Given the description of an element on the screen output the (x, y) to click on. 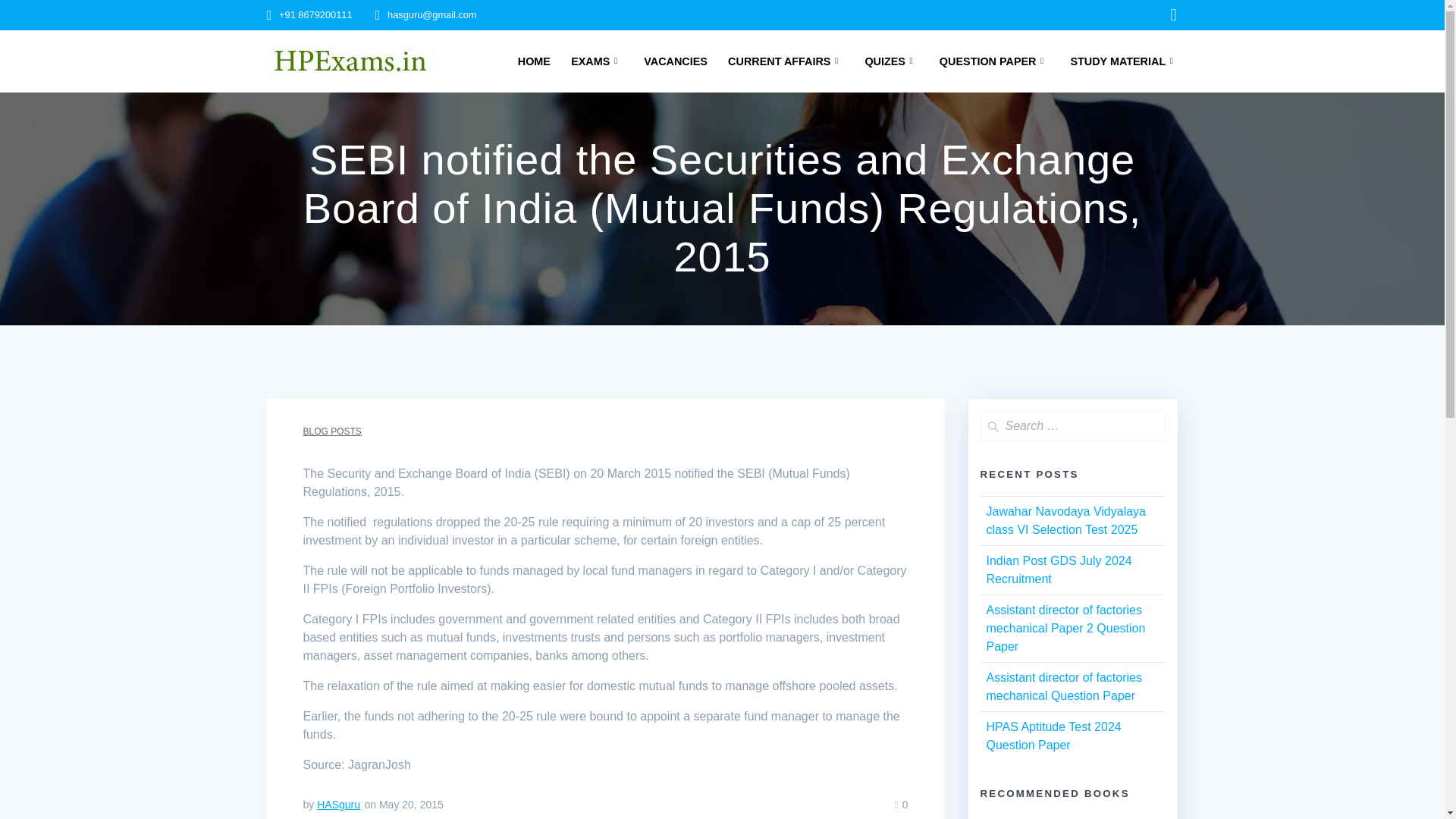
HOME (534, 61)
Indian Post GDS July 2024 Recruitment (1058, 569)
CURRENT AFFAIRS (786, 61)
BLOG POSTS (331, 430)
VACANCIES (675, 61)
QUESTION PAPER (994, 61)
STUDY MATERIAL (1124, 61)
HASguru (338, 804)
QUIZES (891, 61)
Jawahar Navodaya Vidyalaya class VI Selection Test 2025 (1065, 520)
Posts by HASguru (338, 804)
Assistant director of factories mechanical Question Paper (1063, 685)
EXAMS (596, 61)
HPAS Aptitude Test 2024 Question Paper (1053, 735)
